Given the description of an element on the screen output the (x, y) to click on. 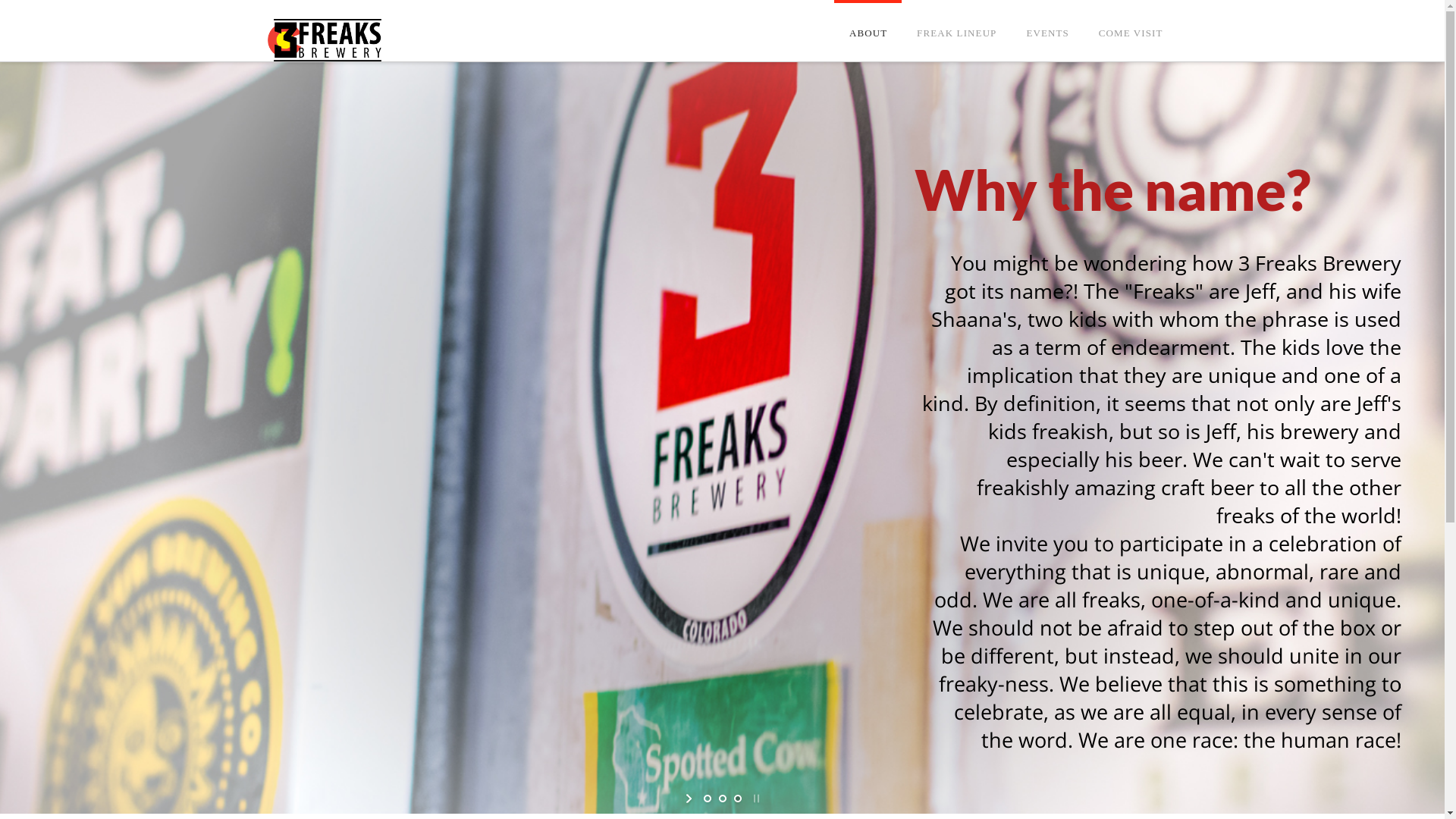
ABOUT Element type: text (867, 14)
EVENTS Element type: text (1046, 14)
FREAK LINEUP Element type: text (955, 14)
COME VISIT Element type: text (1130, 14)
